Given the description of an element on the screen output the (x, y) to click on. 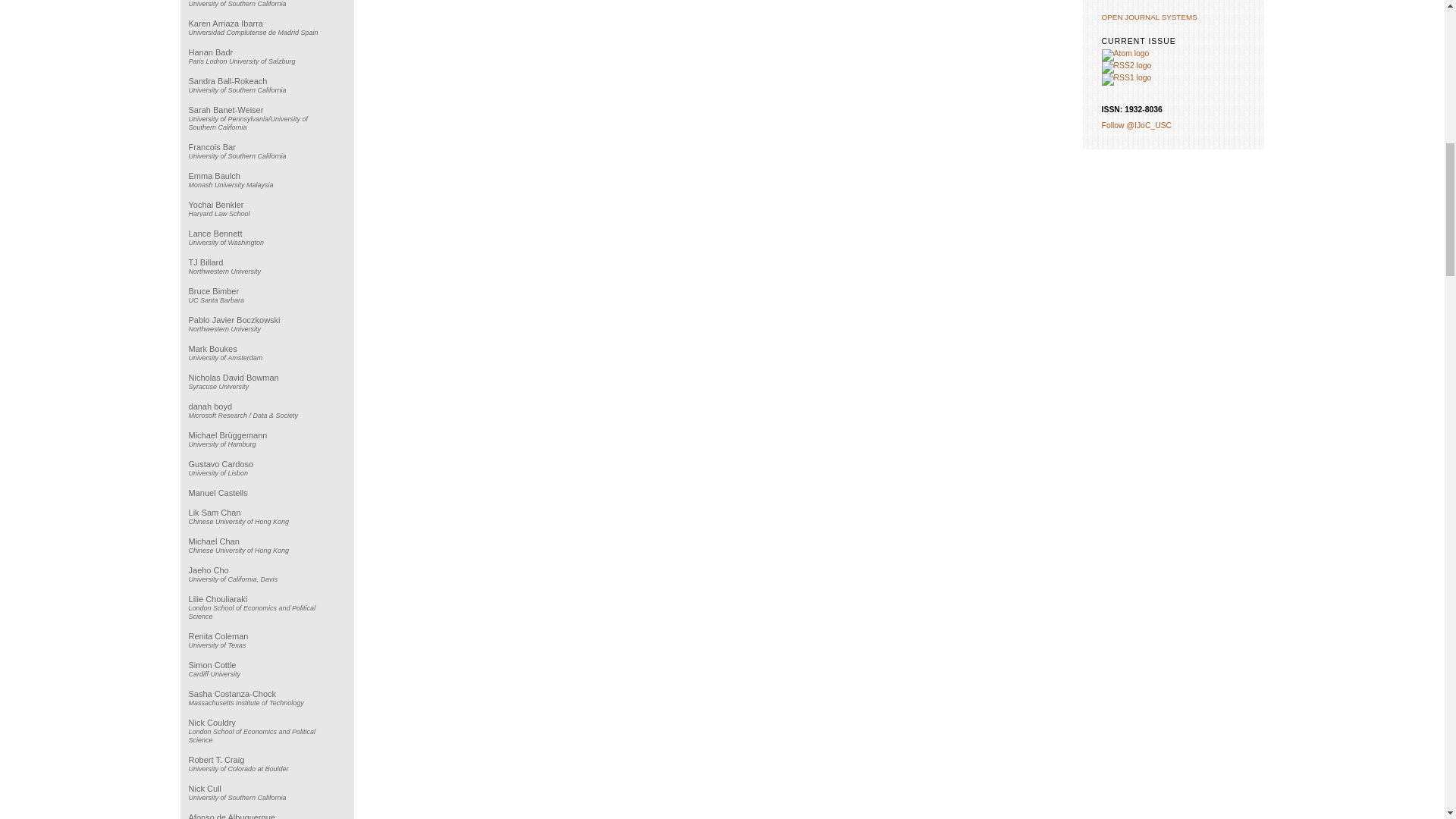
OPEN JOURNAL SYSTEMS (1149, 17)
